Given the description of an element on the screen output the (x, y) to click on. 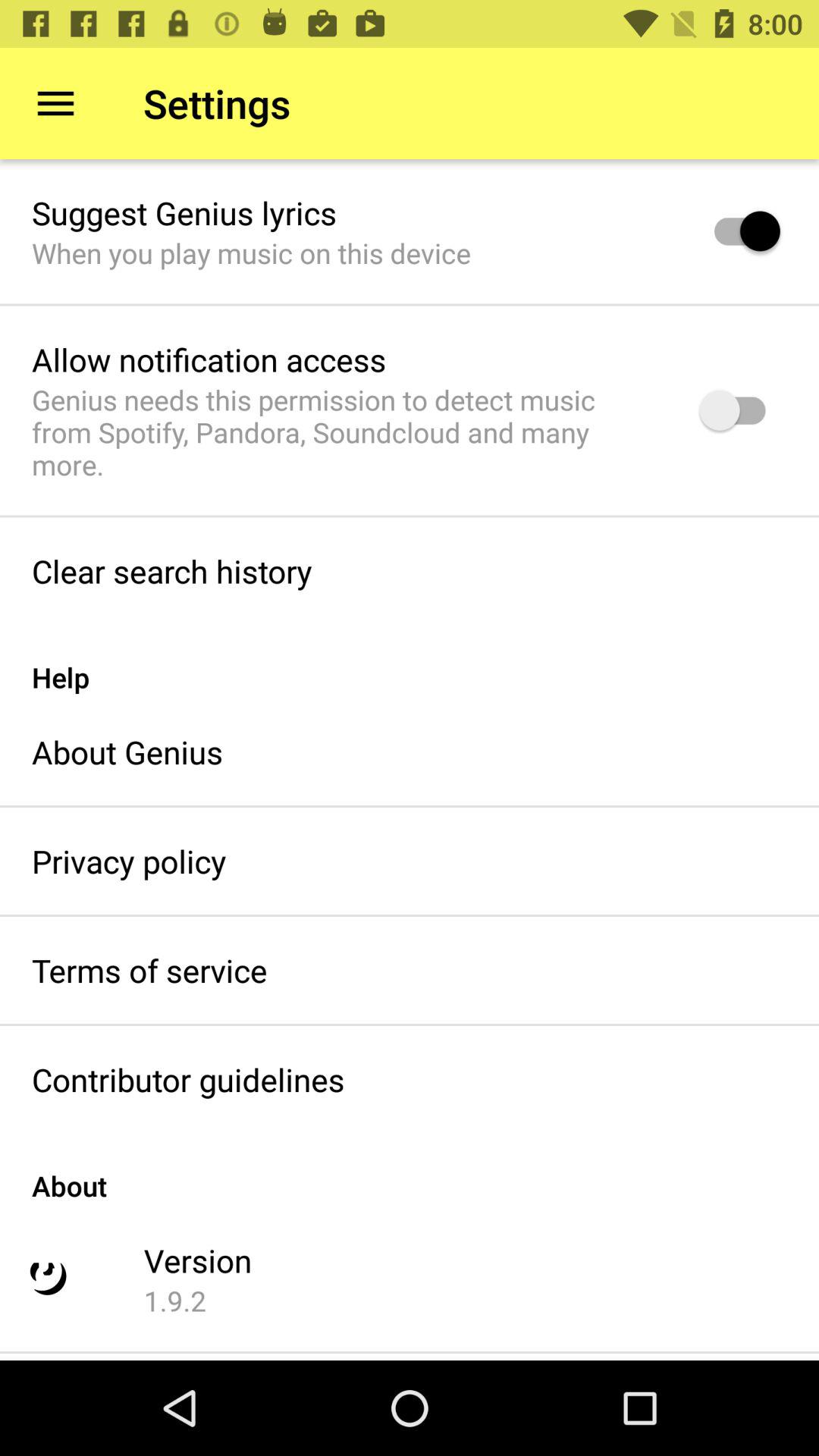
open suggest genius lyrics icon (183, 212)
